Given the description of an element on the screen output the (x, y) to click on. 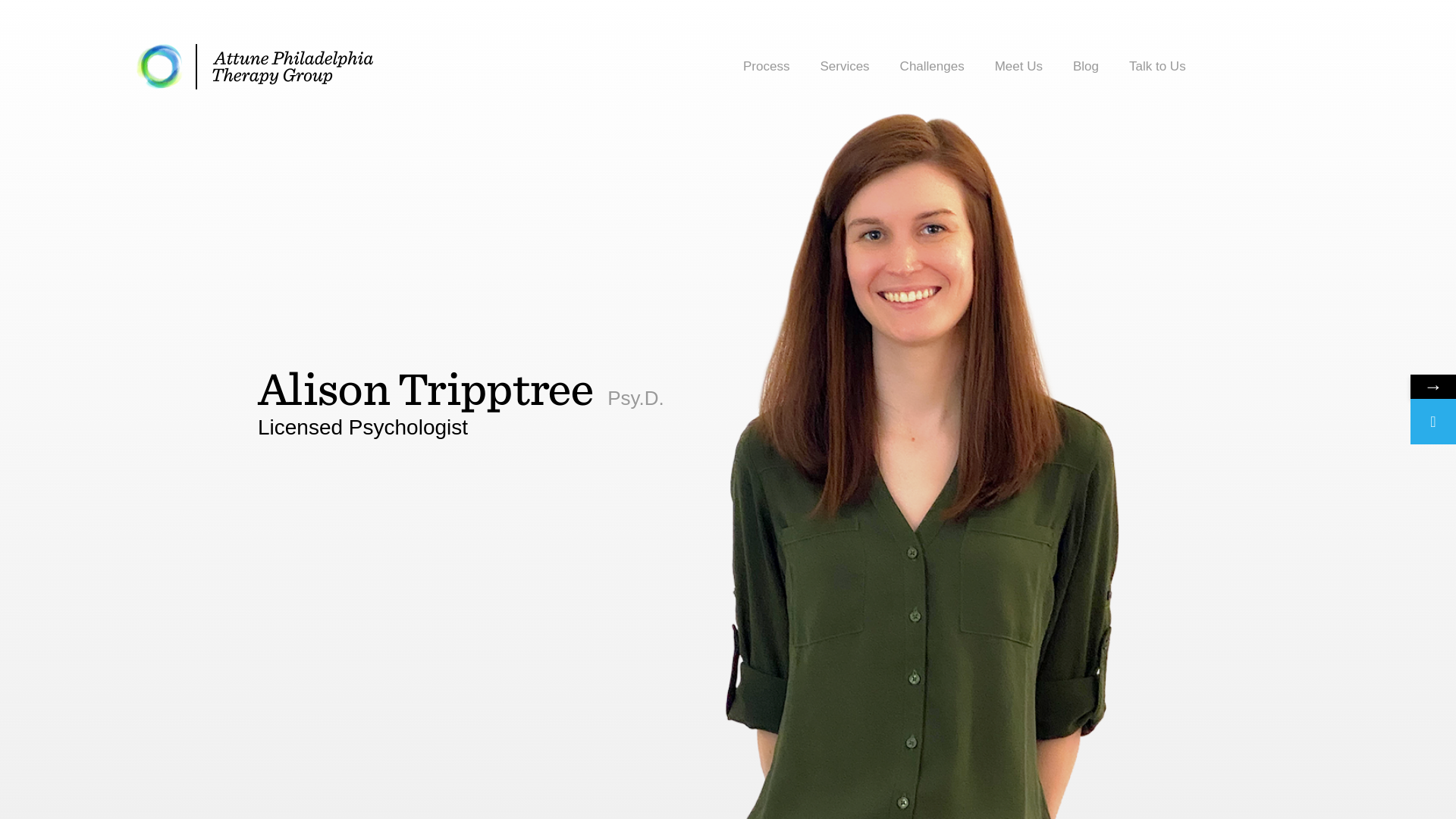
Blog (1086, 66)
Talk to Us (1157, 66)
Attune Philadelphia Therapy Group (254, 66)
Challenges (931, 66)
Meet Us (1018, 66)
Services (844, 66)
Process (765, 66)
